Given the description of an element on the screen output the (x, y) to click on. 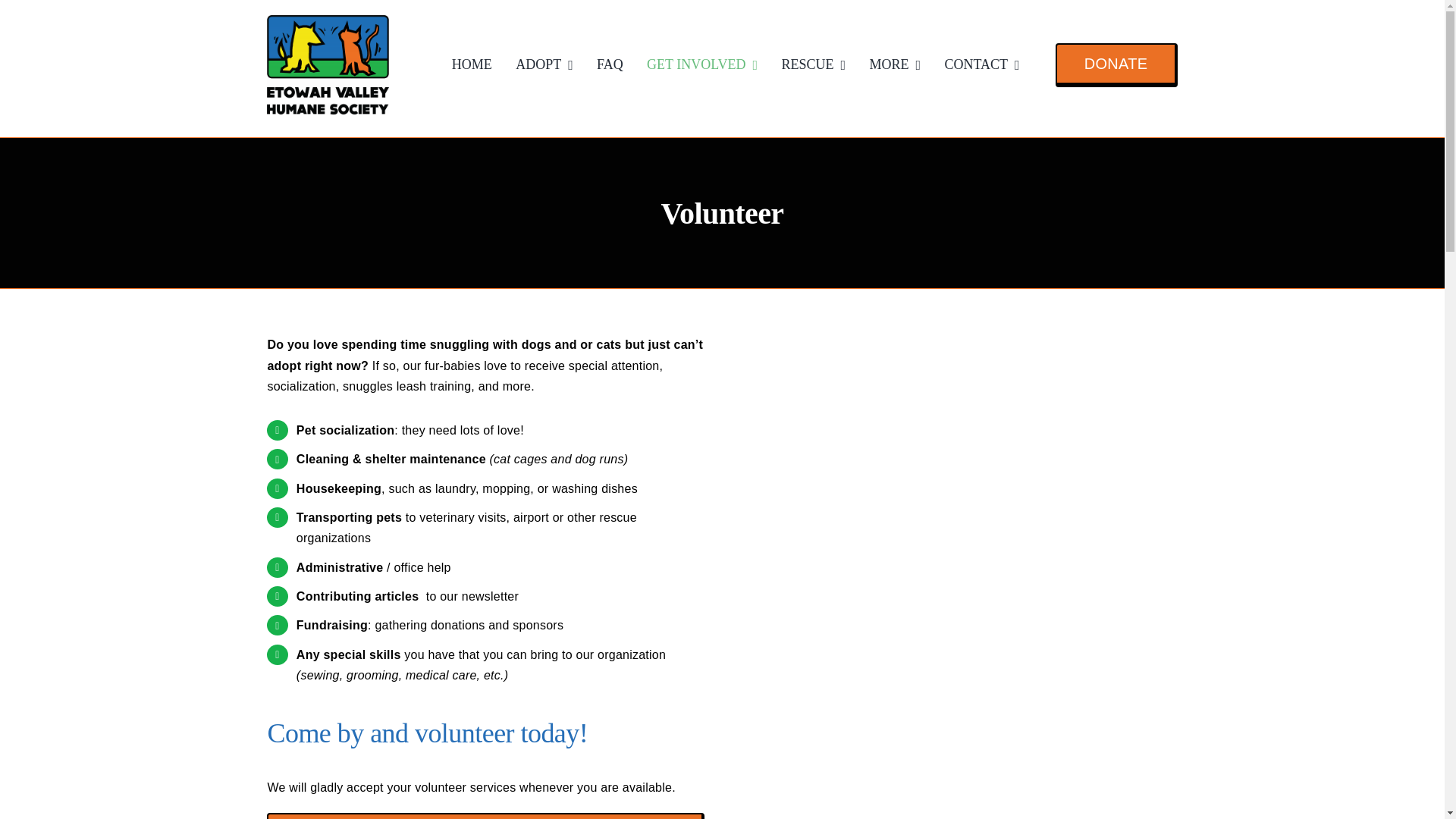
ADOPT (544, 64)
GET INVOLVED (701, 64)
DONATE (1115, 64)
CONTACT (981, 64)
RESCUE (813, 64)
MORE (894, 64)
